Given the description of an element on the screen output the (x, y) to click on. 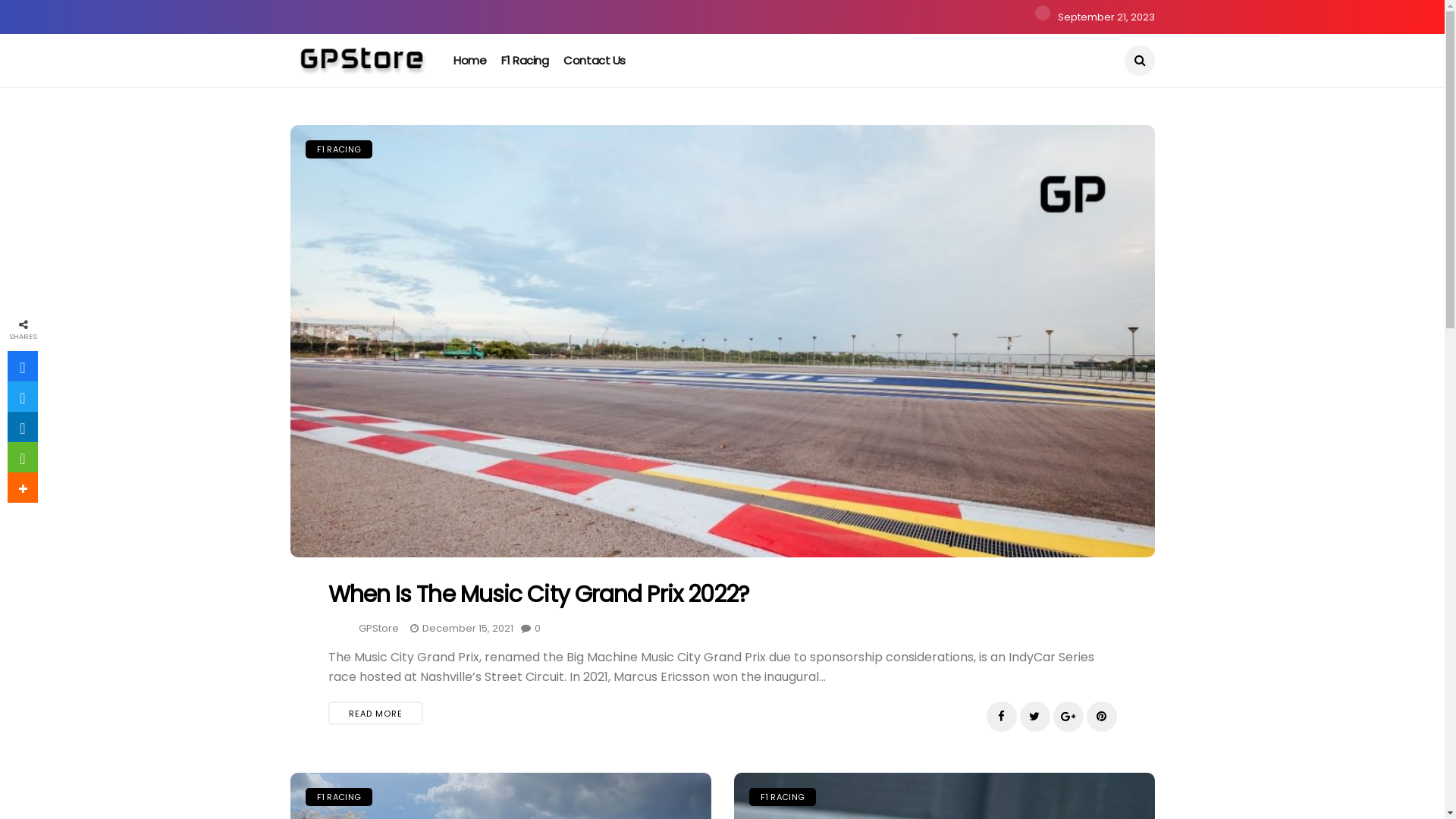
Add this to LinkedIn Element type: hover (22, 426)
0 Element type: text (529, 628)
F1 RACING Element type: text (338, 796)
GPStore Element type: text (377, 628)
Share this on Facebook Element type: hover (22, 366)
READ MORE Element type: text (374, 712)
Tweet this ! Element type: hover (22, 396)
WhatsApp Element type: hover (22, 457)
Home Element type: text (469, 60)
When Is The Music City Grand Prix 2022?  Element type: text (540, 594)
F1 Racing Element type: text (524, 60)
F1 RACING Element type: text (782, 796)
More share links Element type: hover (22, 487)
F1 RACING Element type: text (338, 149)
Contact Us Element type: text (594, 60)
